Given the description of an element on the screen output the (x, y) to click on. 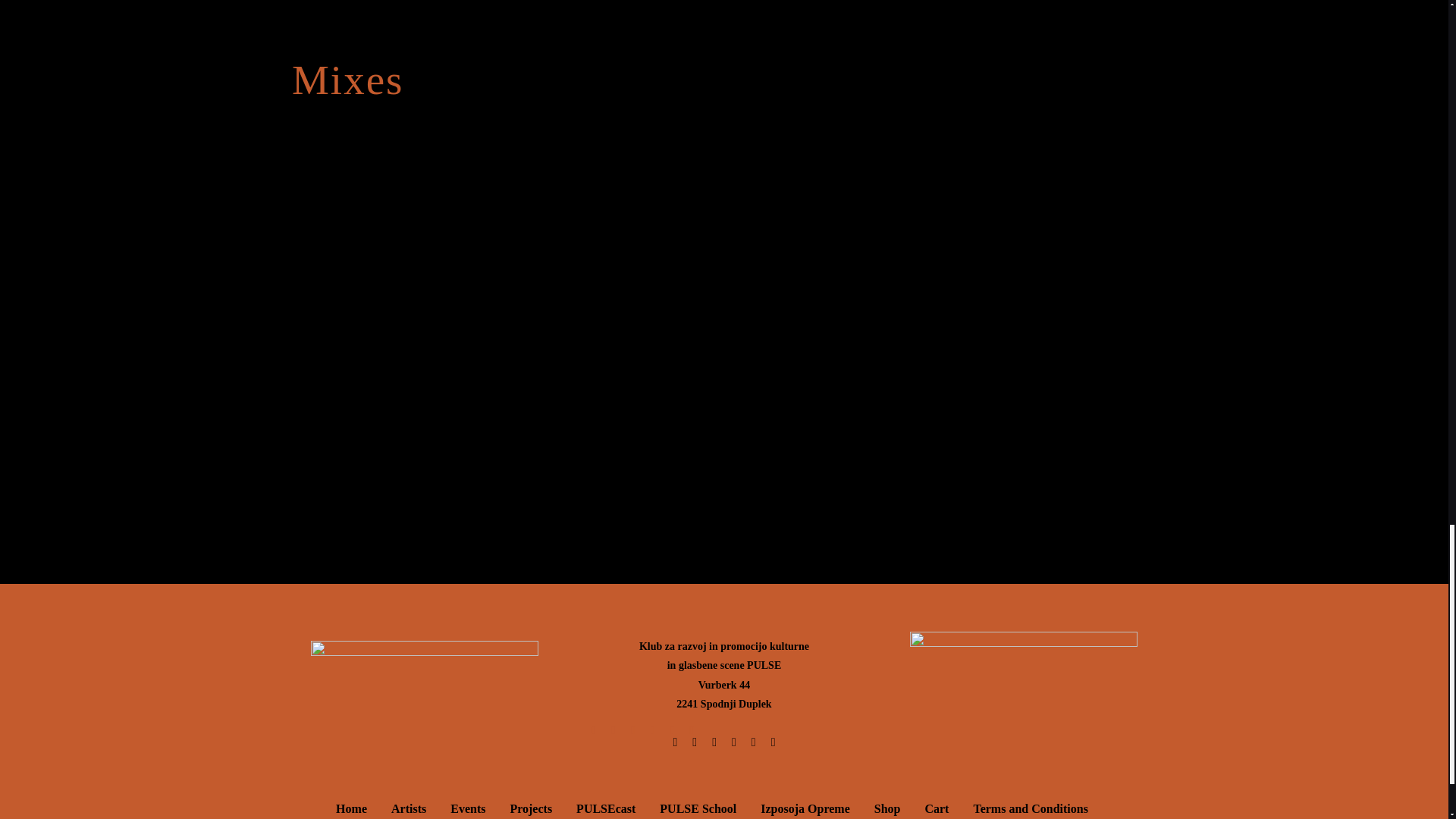
YouTube video player 3 (519, 120)
soundcloud (724, 321)
YouTube video player 4 (968, 120)
soundcloud (724, 190)
soundcloud (724, 453)
